Given the description of an element on the screen output the (x, y) to click on. 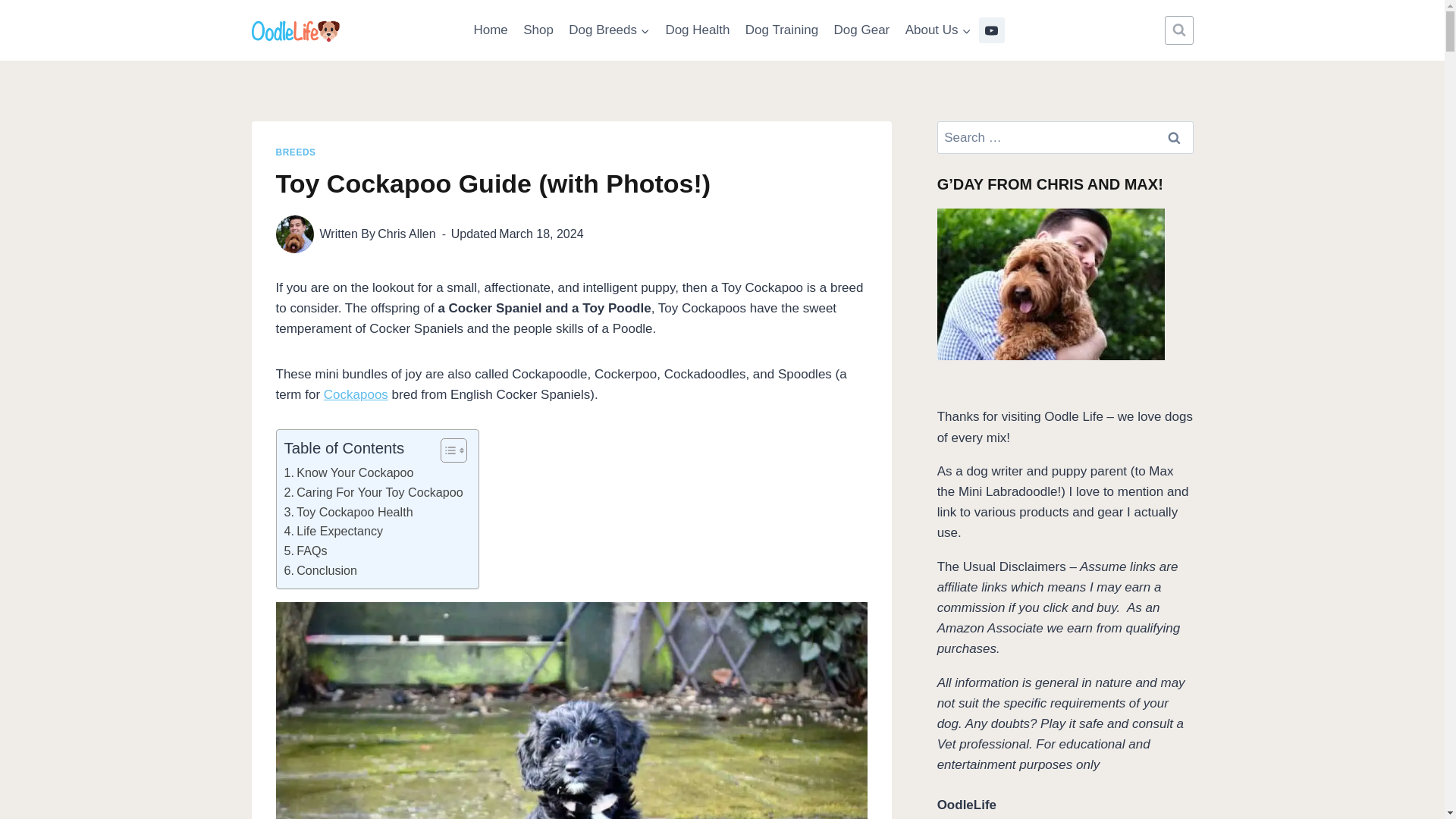
Know Your Cockapoo (348, 473)
FAQs (304, 551)
Toy Cockapoo Health (347, 512)
Search (1174, 137)
FAQs (304, 551)
Conclusion (319, 570)
Dog Gear (860, 30)
Home (490, 30)
Chris Allen (406, 233)
Toy Cockapoo Health (347, 512)
